Given the description of an element on the screen output the (x, y) to click on. 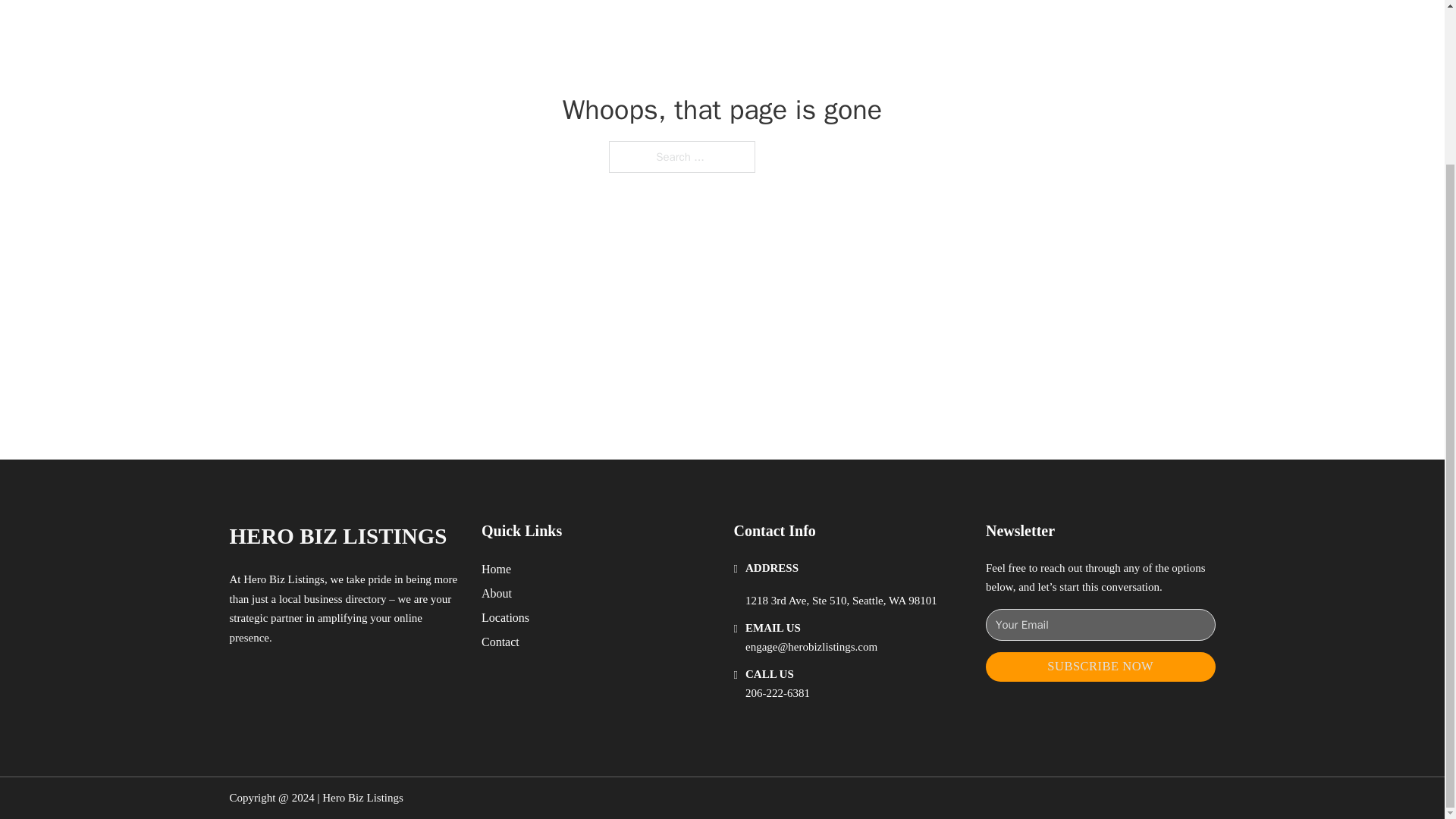
206-222-6381 (777, 693)
Contact (500, 641)
Locations (505, 617)
HERO BIZ LISTINGS (337, 536)
SUBSCRIBE NOW (1100, 666)
Home (496, 568)
About (496, 593)
